Given the description of an element on the screen output the (x, y) to click on. 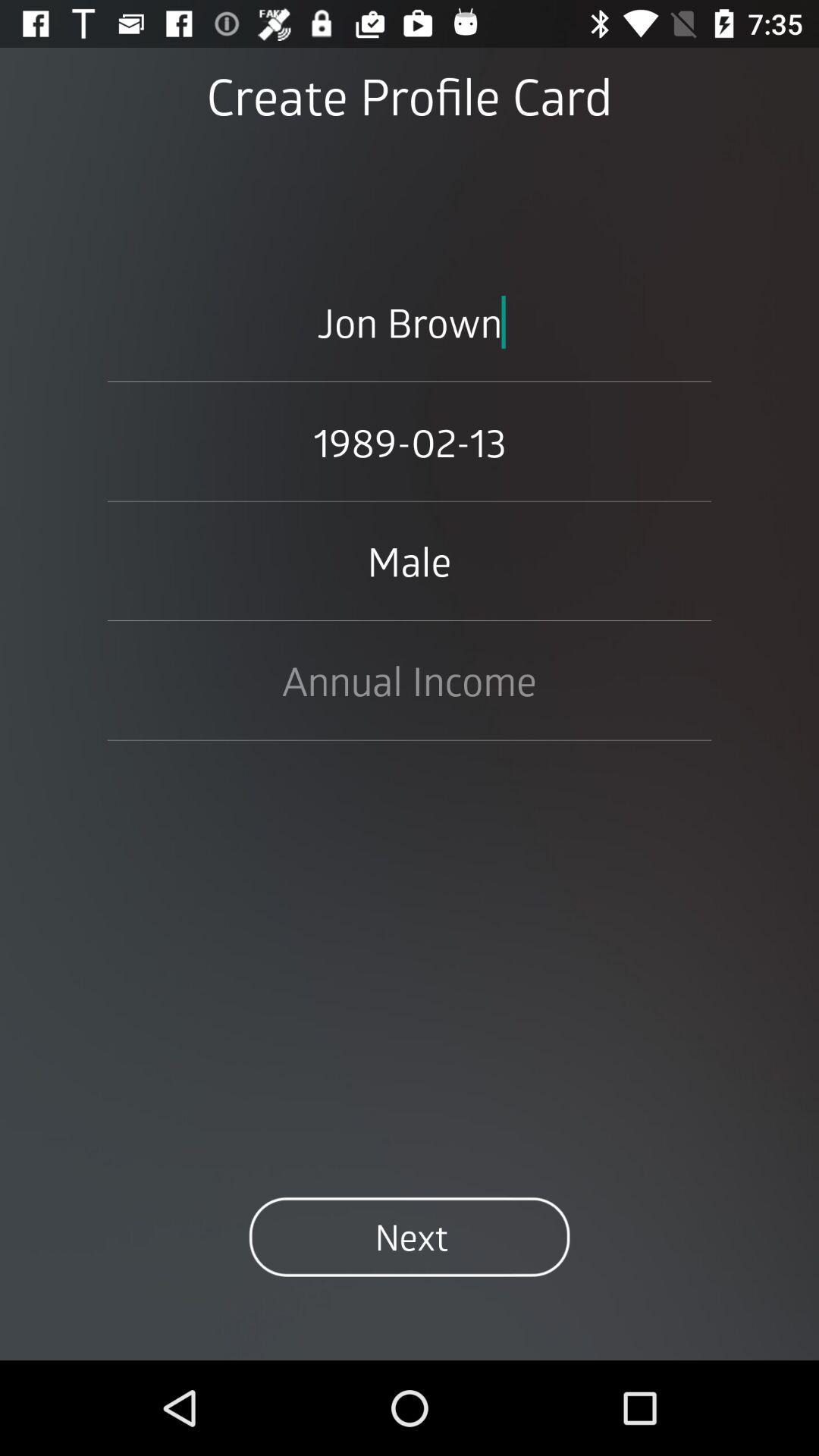
view annual income (409, 680)
